Given the description of an element on the screen output the (x, y) to click on. 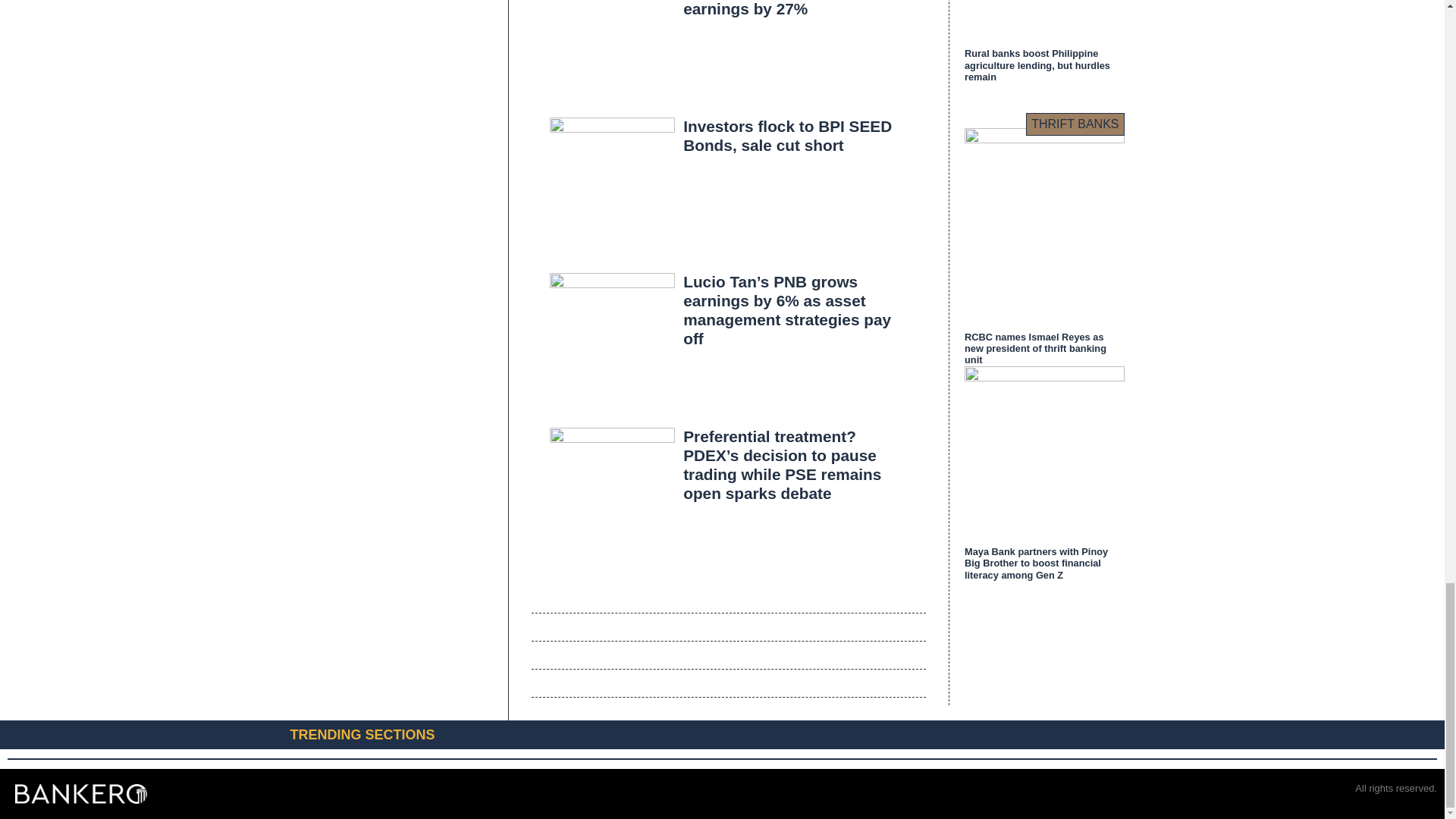
Investors flock to BPI SEED Bonds, sale cut short (786, 135)
